Given the description of an element on the screen output the (x, y) to click on. 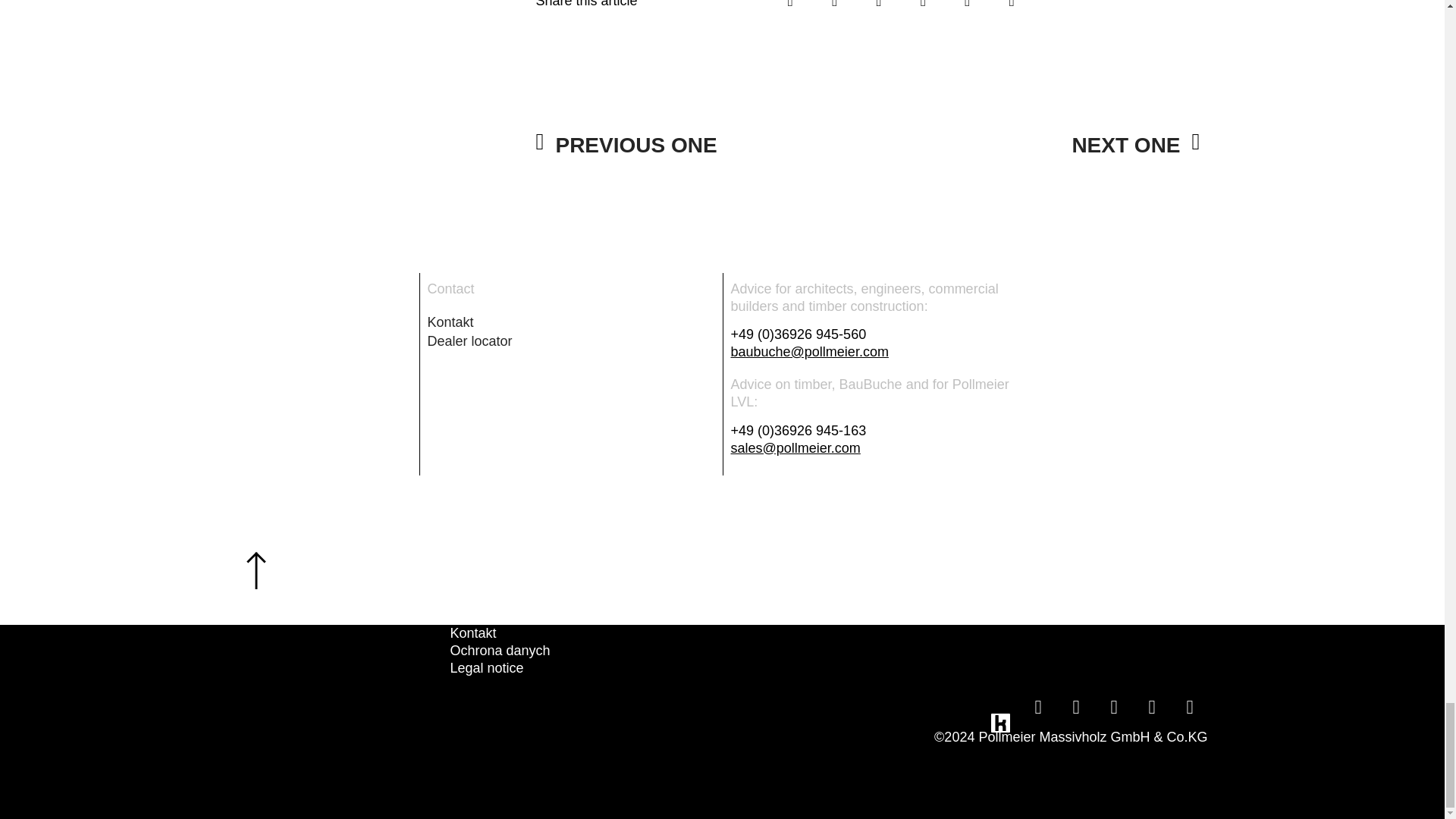
Dealer locator (571, 341)
Kontakt (571, 322)
Ochrona danych (499, 651)
Kontakt (499, 633)
NEXT ONE (1033, 146)
PREVIOUS ONE (701, 146)
Legal notice (499, 668)
